Given the description of an element on the screen output the (x, y) to click on. 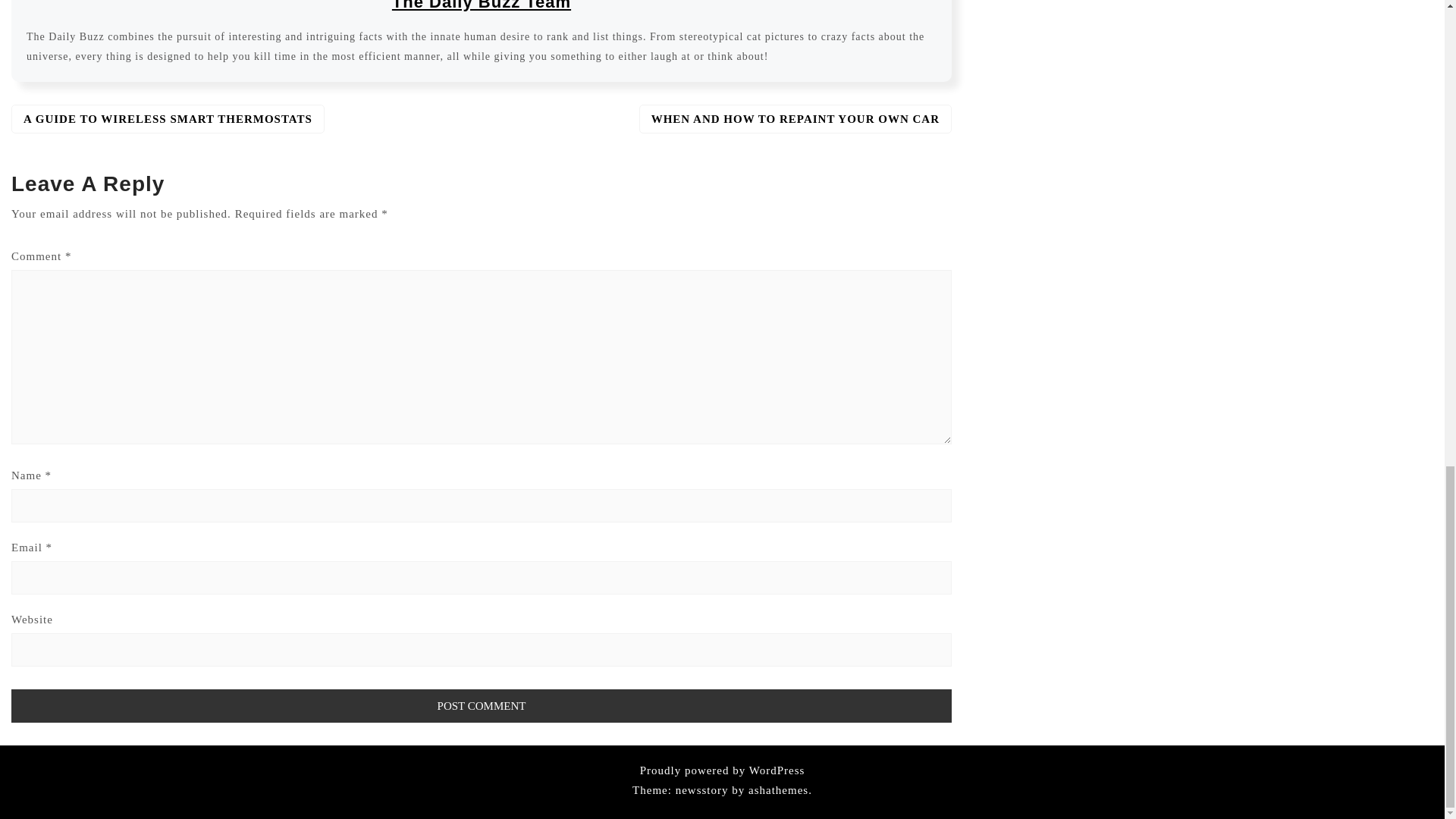
WHEN AND HOW TO REPAINT YOUR OWN CAR (795, 118)
Post Comment (481, 705)
The Daily Buzz Team (480, 5)
A GUIDE TO WIRELESS SMART THERMOSTATS (167, 118)
Proudly powered by WordPress (722, 770)
Post Comment (481, 705)
